Given the description of an element on the screen output the (x, y) to click on. 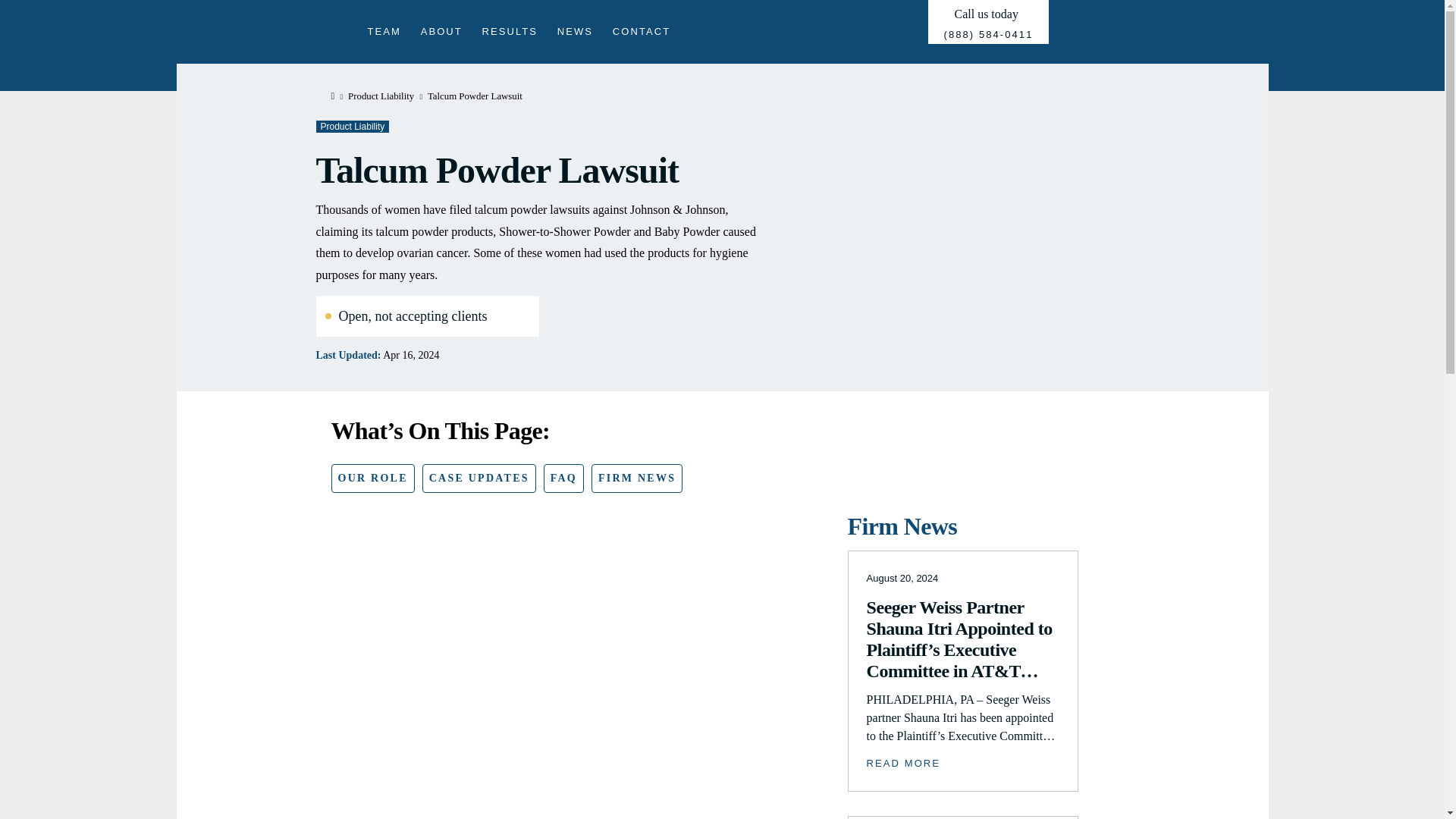
FAQ (563, 478)
RESULTS (509, 30)
NEWS (574, 30)
FIRM NEWS (636, 478)
CASE UPDATES (478, 478)
TEAM (383, 30)
OUR ROLE (371, 478)
Product Liability (352, 126)
CONTACT (640, 30)
ABOUT (441, 30)
